Given the description of an element on the screen output the (x, y) to click on. 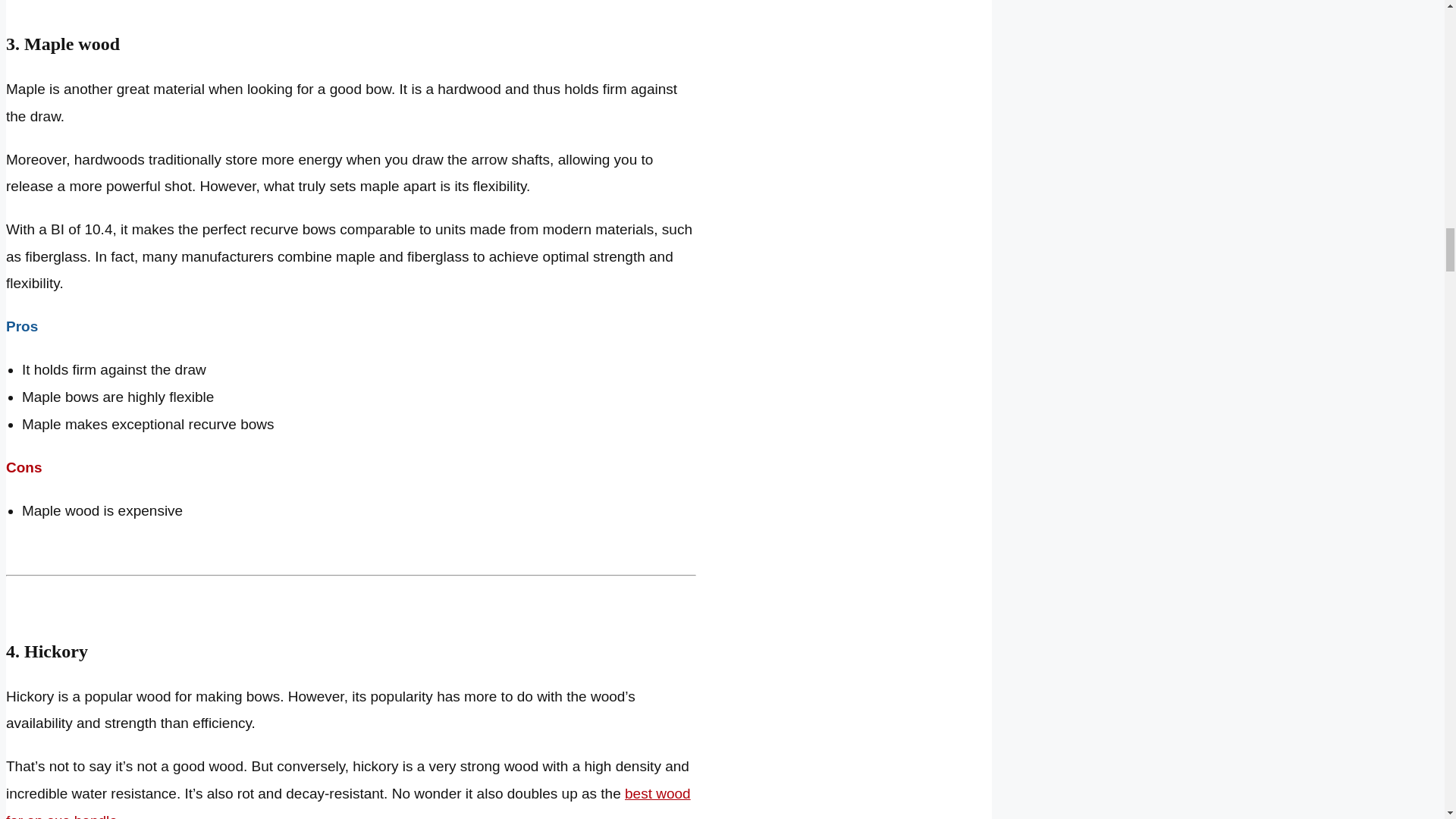
best wood for an axe handle (347, 802)
